Given the description of an element on the screen output the (x, y) to click on. 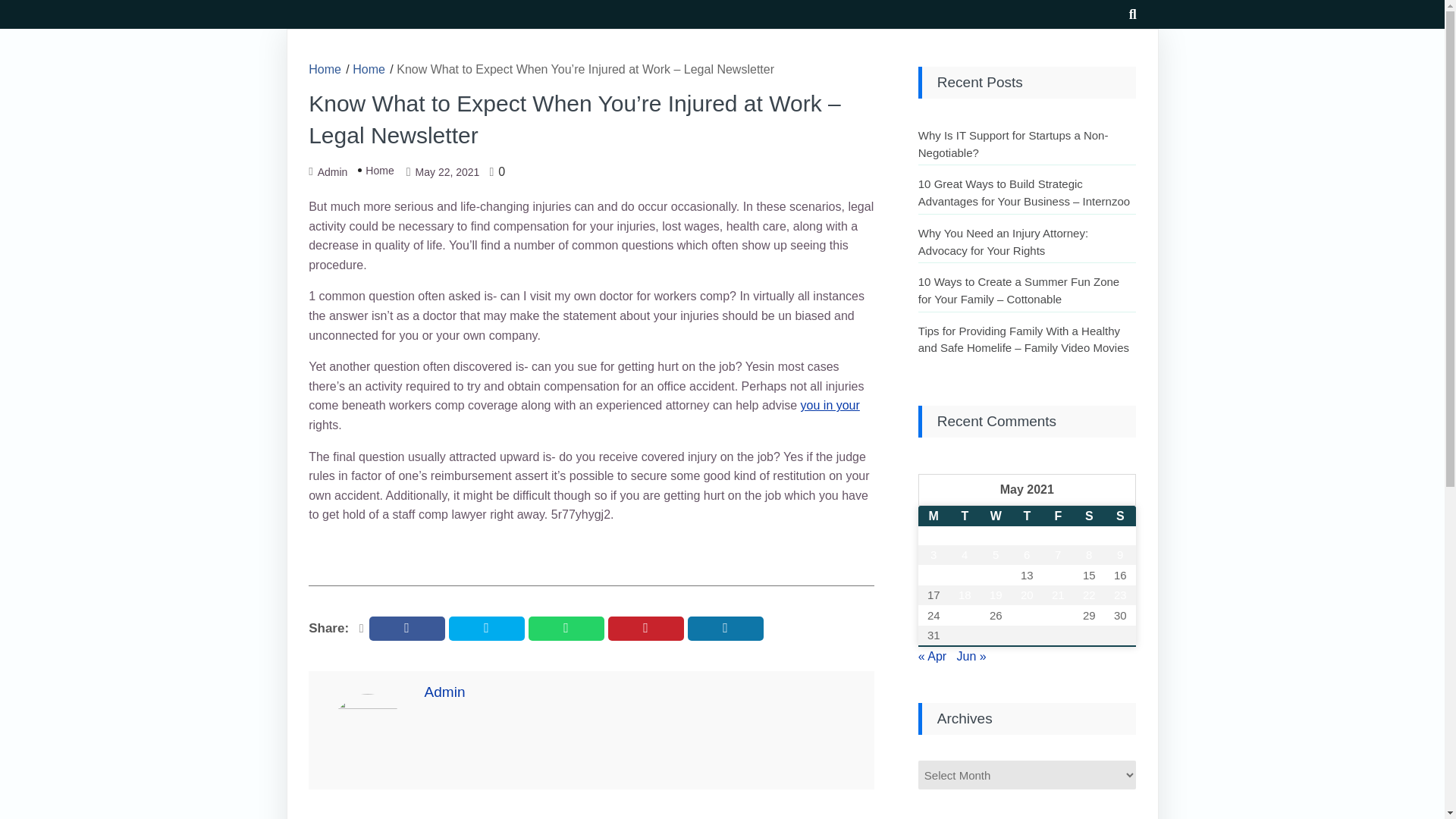
Home (376, 170)
1 (1089, 536)
21 (1058, 595)
facebook (407, 628)
3 (933, 555)
linkedin (724, 628)
18 (964, 595)
6 (1026, 555)
12 (995, 575)
Home (324, 69)
14 (1058, 575)
Why You Need an Injury Attorney: Advocacy for Your Rights (1002, 241)
22 (1089, 595)
10 (933, 575)
8 (1089, 555)
